Given the description of an element on the screen output the (x, y) to click on. 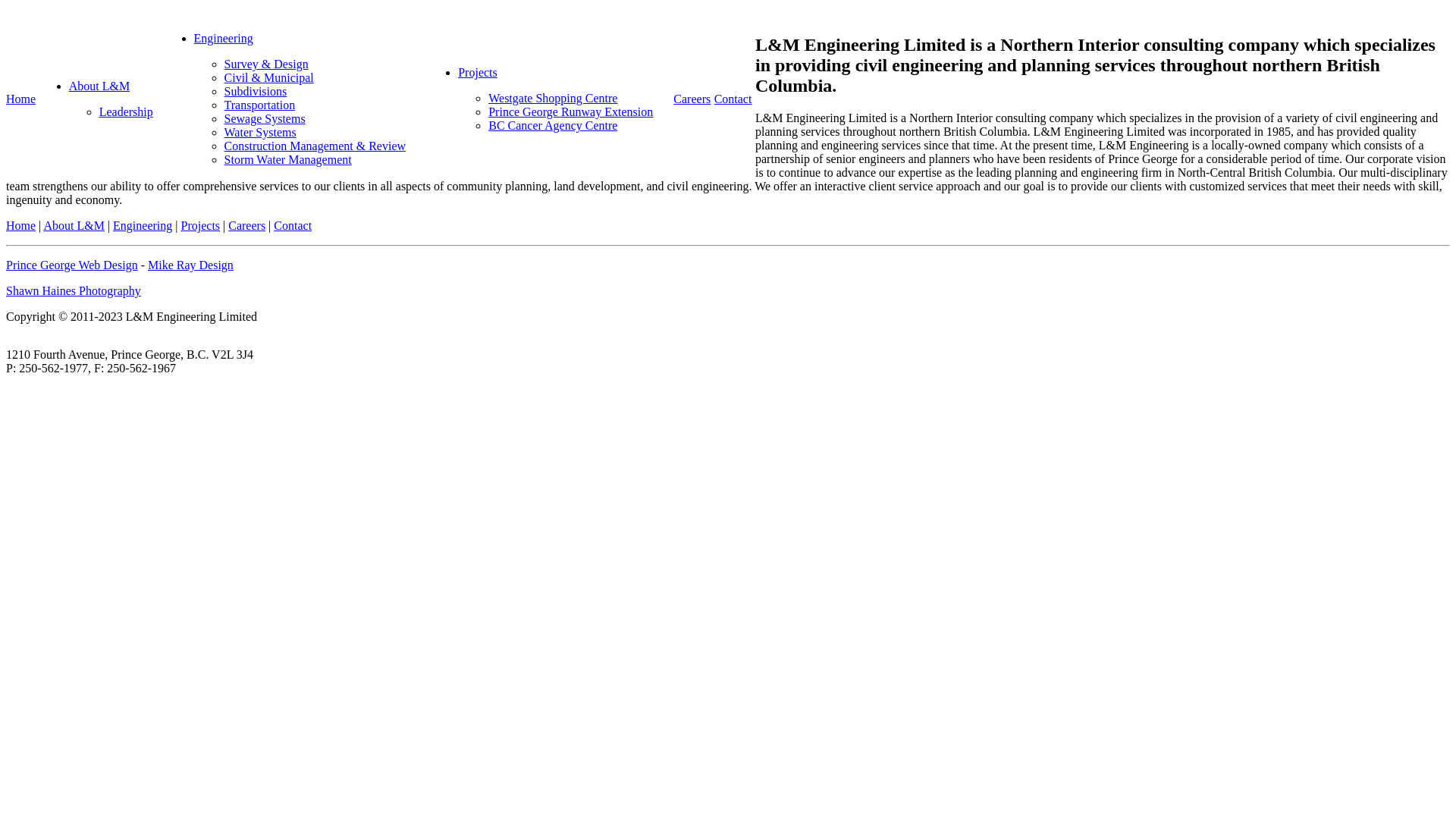
BC Cancer Agency Centre Element type: text (552, 125)
Water Systems Element type: text (260, 131)
Shawn Haines Photography Element type: text (73, 290)
Subdivisions Element type: text (255, 90)
Leadership Element type: text (126, 111)
Civil & Municipal Element type: text (268, 77)
Mike Ray Design Element type: text (190, 264)
Prince George Runway Extension Element type: text (570, 111)
Contact Element type: text (733, 98)
Sewage Systems Element type: text (264, 118)
Prince George Web Design Element type: text (72, 264)
Engineering Element type: text (142, 225)
Engineering Element type: text (223, 37)
Home Element type: text (20, 225)
Construction Management & Review Element type: text (315, 145)
Contact Element type: text (292, 225)
Home Element type: text (20, 98)
Survey & Design Element type: text (266, 63)
Careers Element type: text (246, 225)
About L&M Element type: text (99, 85)
Westgate Shopping Centre Element type: text (552, 97)
About L&M Element type: text (73, 225)
Transportation Element type: text (259, 104)
Projects Element type: text (477, 71)
Careers Element type: text (691, 98)
Storm Water Management Element type: text (287, 159)
Projects Element type: text (199, 225)
